Given the description of an element on the screen output the (x, y) to click on. 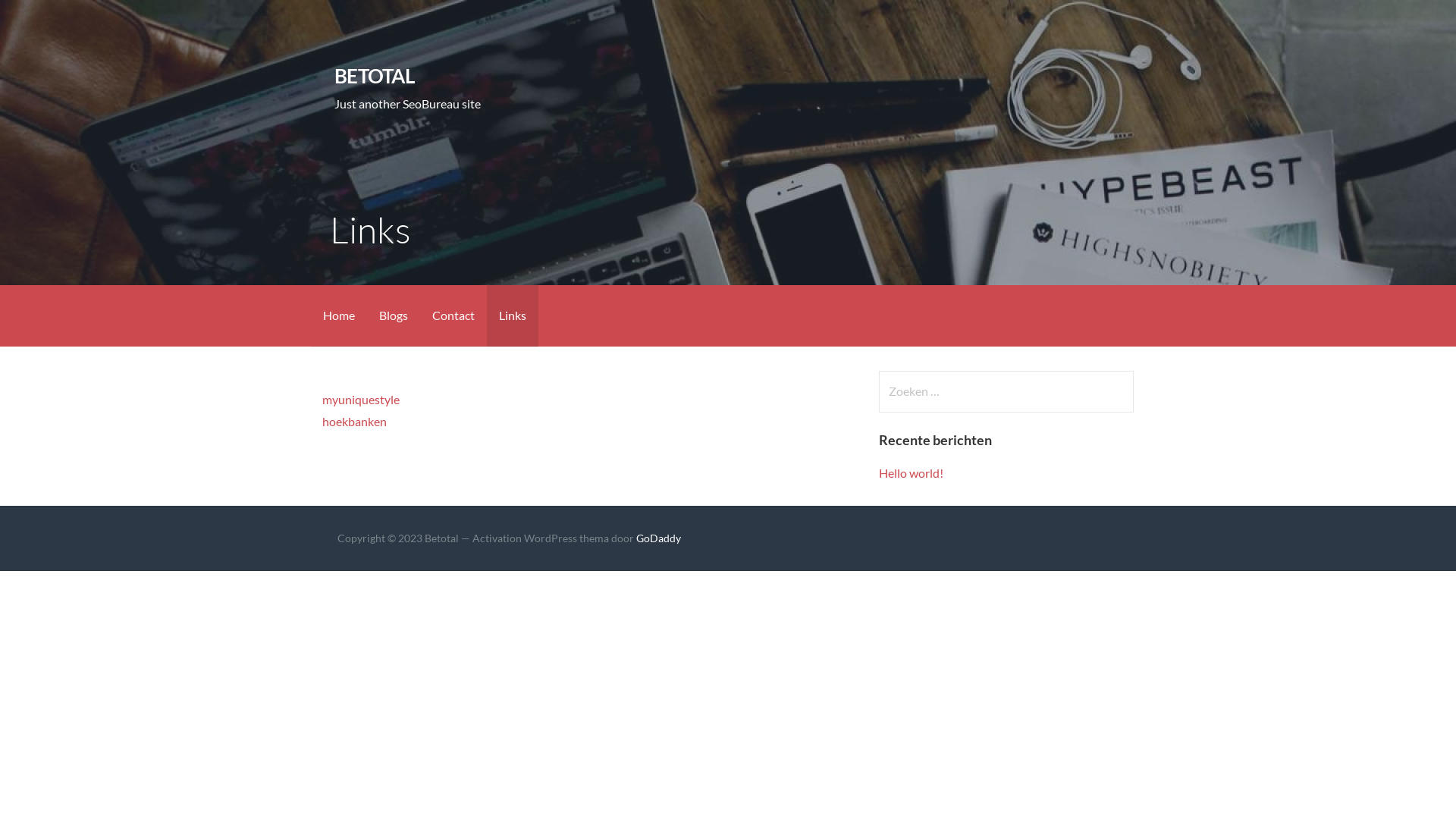
Home Element type: text (338, 315)
Hello world! Element type: text (910, 472)
BETOTAL Element type: text (374, 75)
myuniquestyle Element type: text (360, 399)
Blogs Element type: text (393, 315)
Contact Element type: text (453, 315)
GoDaddy Element type: text (658, 537)
Links Element type: text (512, 315)
hoekbanken Element type: text (354, 421)
Zoeken Element type: text (42, 18)
